Given the description of an element on the screen output the (x, y) to click on. 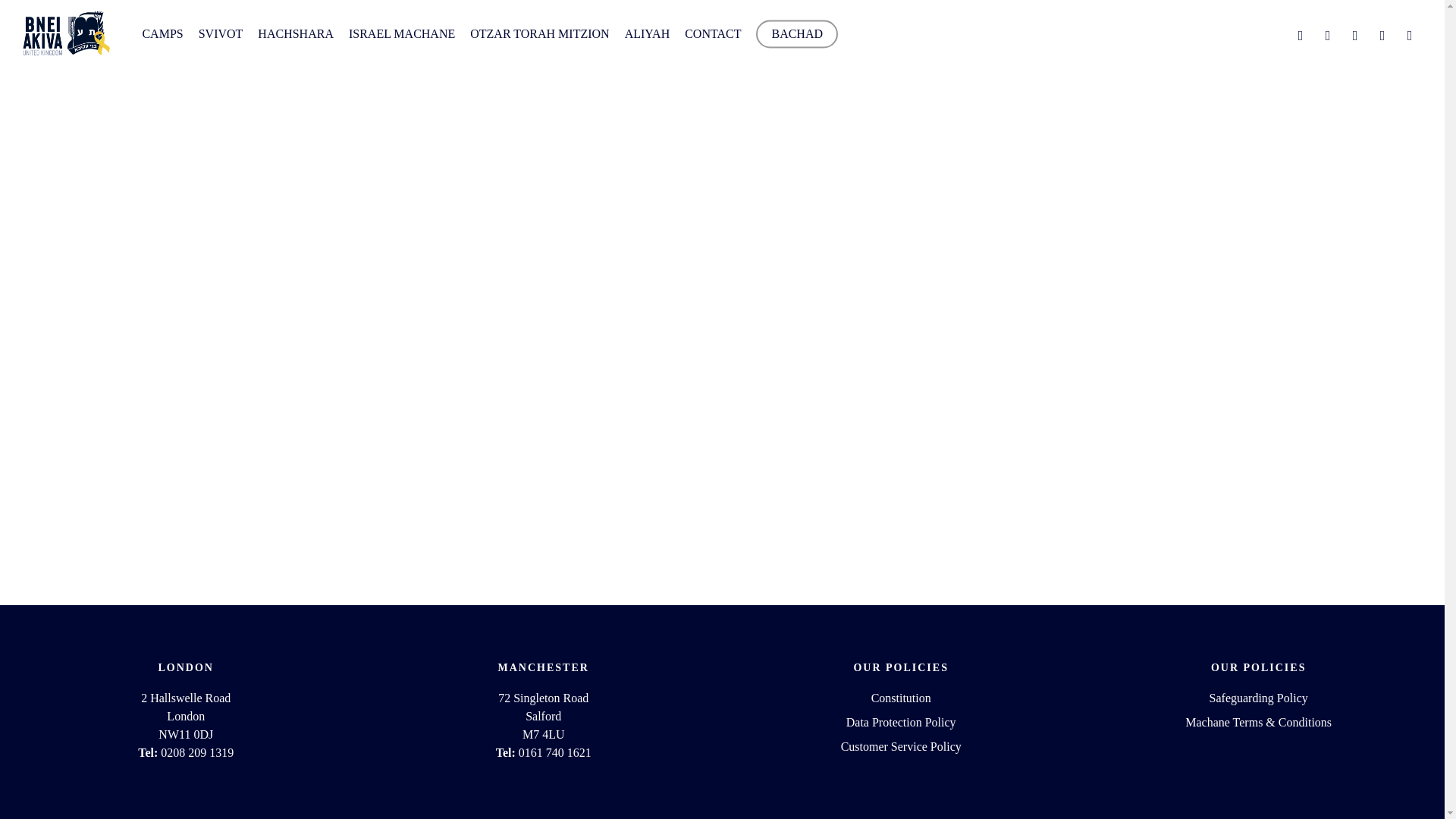
FACEBOOK (1300, 33)
SVIVOT (220, 33)
Data Protection Policy (900, 722)
Constitution (900, 698)
ALIYAH (646, 33)
INSTAGRAM (1354, 33)
BACHAD (796, 33)
YOUTUBE (1327, 33)
CAMPS (162, 33)
Customer Service Policy (900, 746)
